Given the description of an element on the screen output the (x, y) to click on. 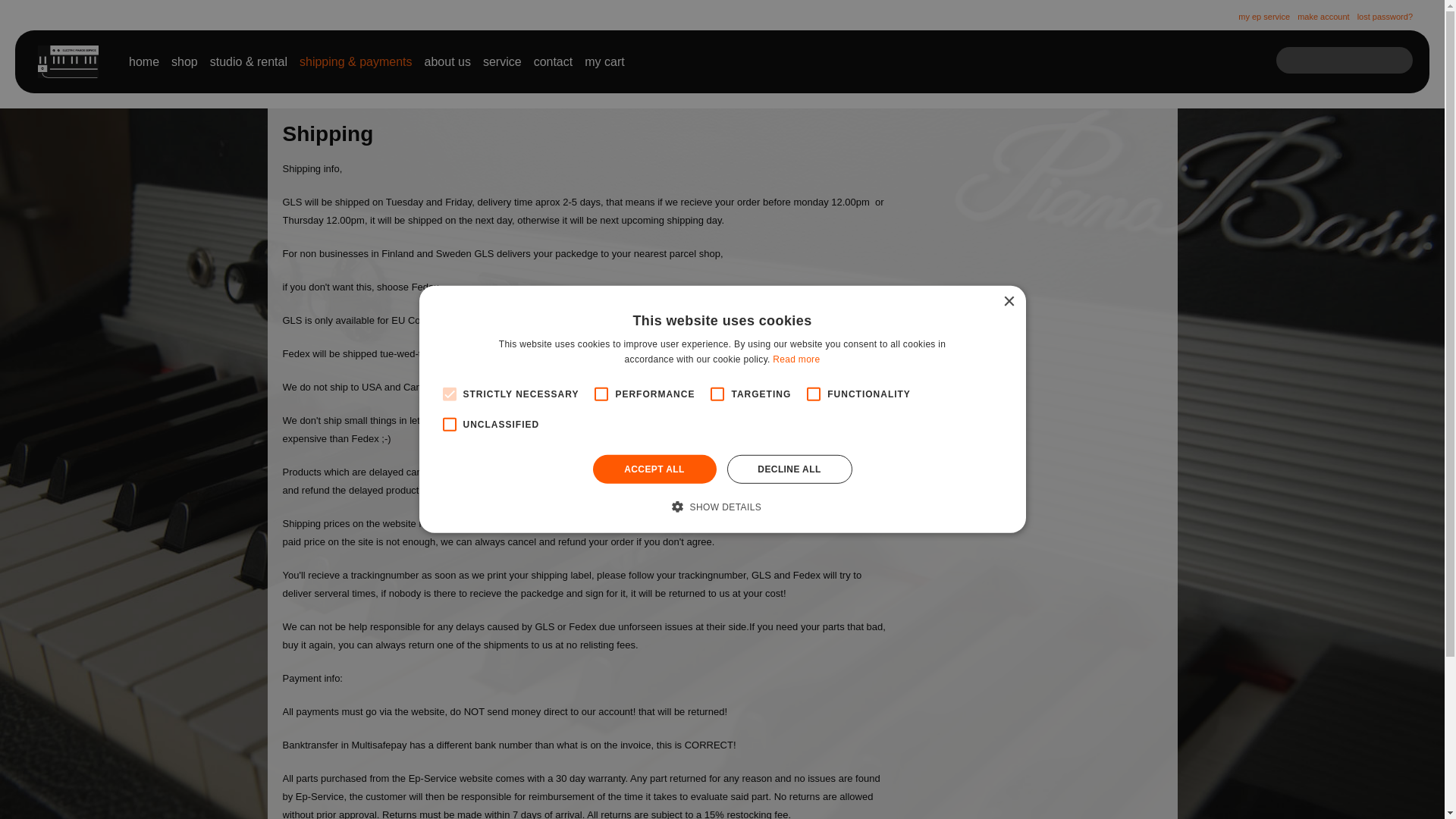
lost password? (1384, 16)
home (143, 61)
account aanmaken (1323, 16)
mijn ep service (1264, 16)
shop (184, 61)
about us (447, 61)
contact (553, 61)
service (502, 61)
wachtwoord vergeten (1384, 16)
EP Service (68, 61)
